Given the description of an element on the screen output the (x, y) to click on. 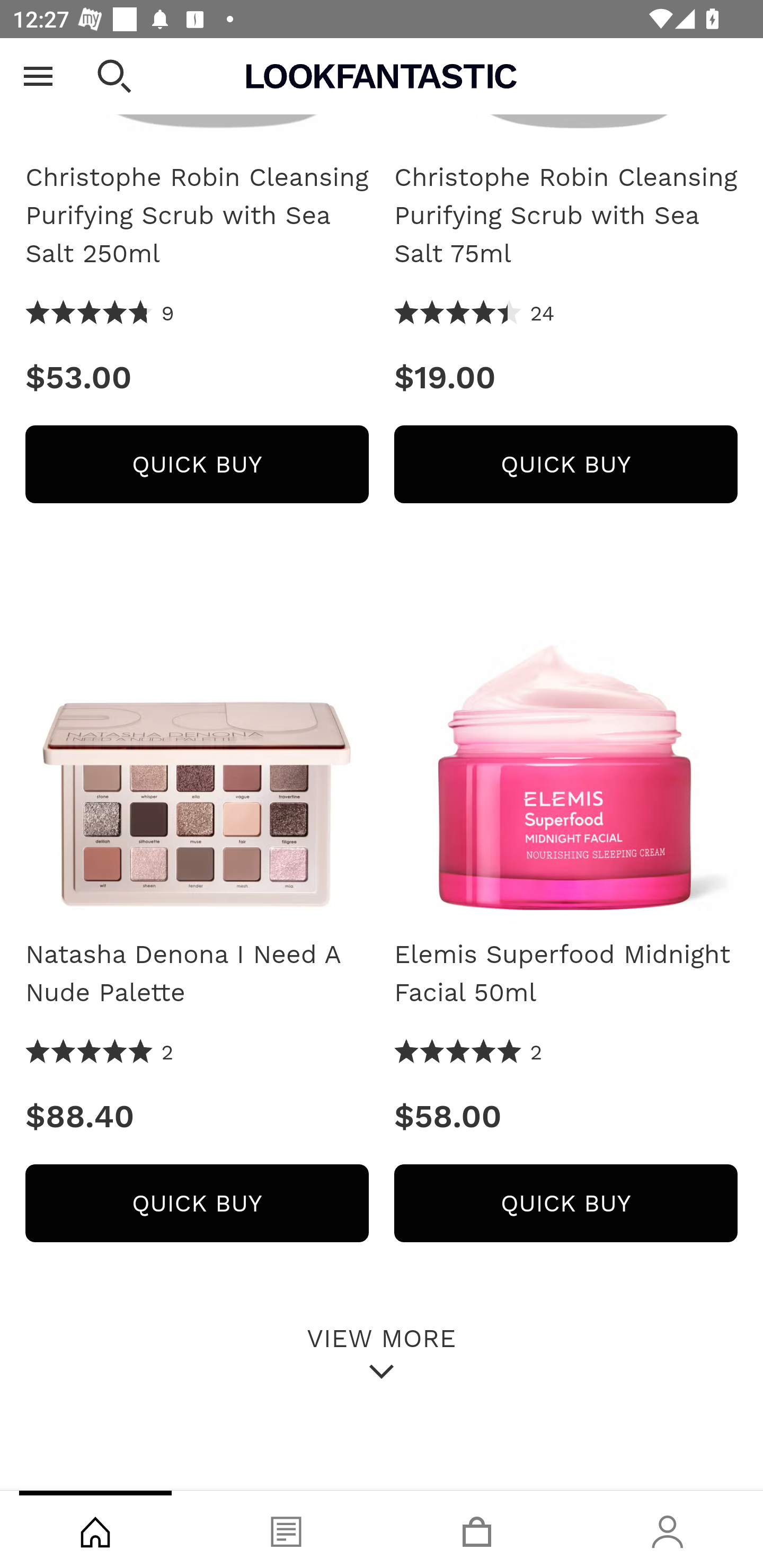
4.78 Stars 9 Reviews (99, 313)
4.46 Stars 24 Reviews (475, 313)
Price: $53.00 (196, 376)
Price: $19.00 (565, 376)
Natasha Denona I Need A Nude Palette (196, 744)
Elemis Superfood Midnight Facial 50ml (565, 744)
Natasha Denona I Need A Nude Palette (196, 973)
Elemis Superfood Midnight Facial 50ml (565, 973)
5.0 Stars 2 Reviews (99, 1052)
5.0 Stars 2 Reviews (468, 1052)
Price: $88.40 (196, 1115)
Price: $58.00 (565, 1115)
QUICK BUY NATASHA DENONA I NEED A NUDE PALETTE (196, 1203)
QUICK BUY ELEMIS SUPERFOOD MIDNIGHT FACIAL 50ML (565, 1203)
VIEW MORE (381, 1352)
Shop, tab, 1 of 4 (95, 1529)
Blog, tab, 2 of 4 (285, 1529)
Basket, tab, 3 of 4 (476, 1529)
Account, tab, 4 of 4 (667, 1529)
